Given the description of an element on the screen output the (x, y) to click on. 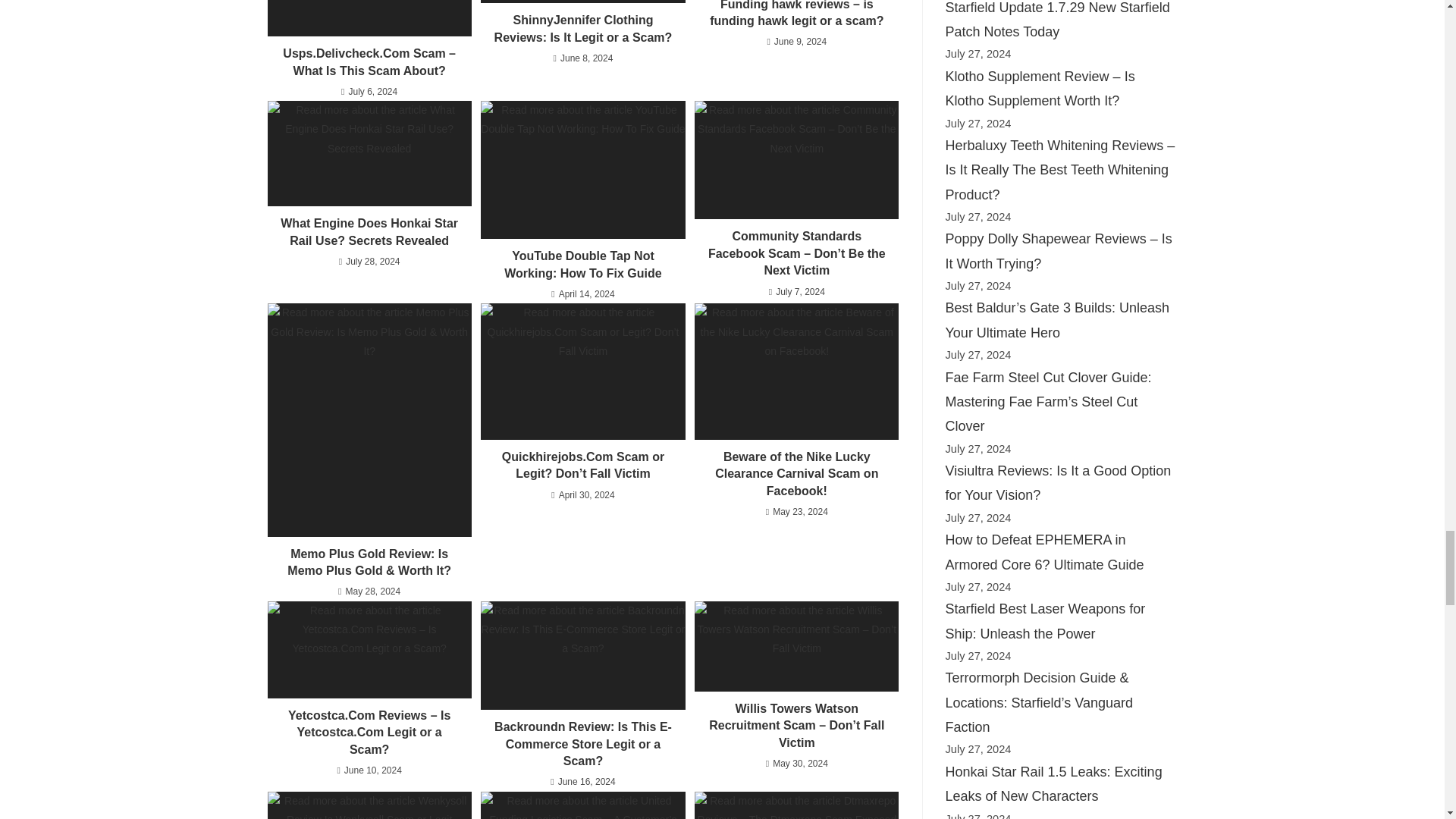
ShinnyJennifer Clothing Reviews: Is It Legit or a Scam? (582, 2)
Usps.Delivcheck.Com Scam - What Is This Scam About? (368, 18)
